Given the description of an element on the screen output the (x, y) to click on. 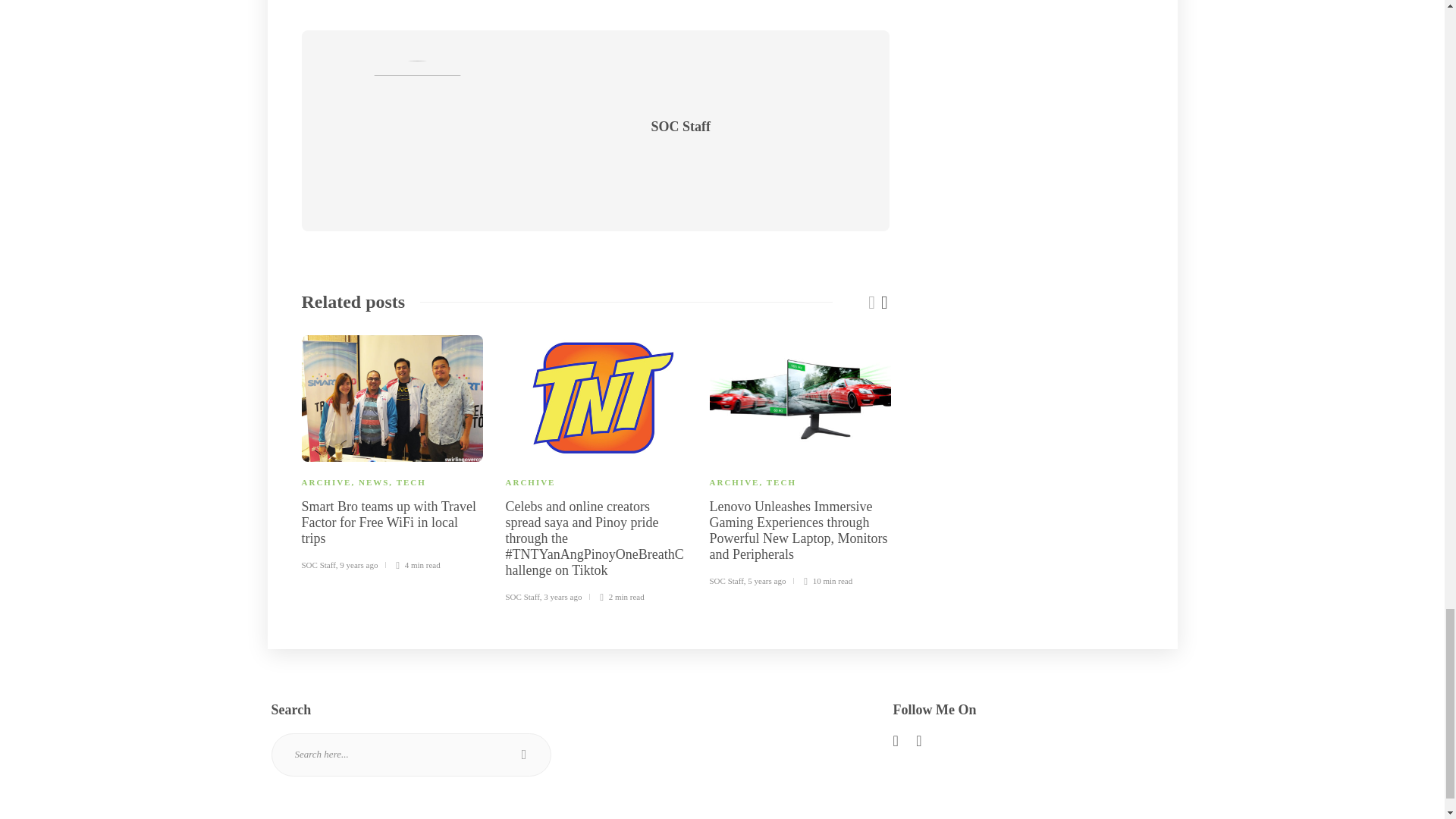
Search text (410, 754)
